Given the description of an element on the screen output the (x, y) to click on. 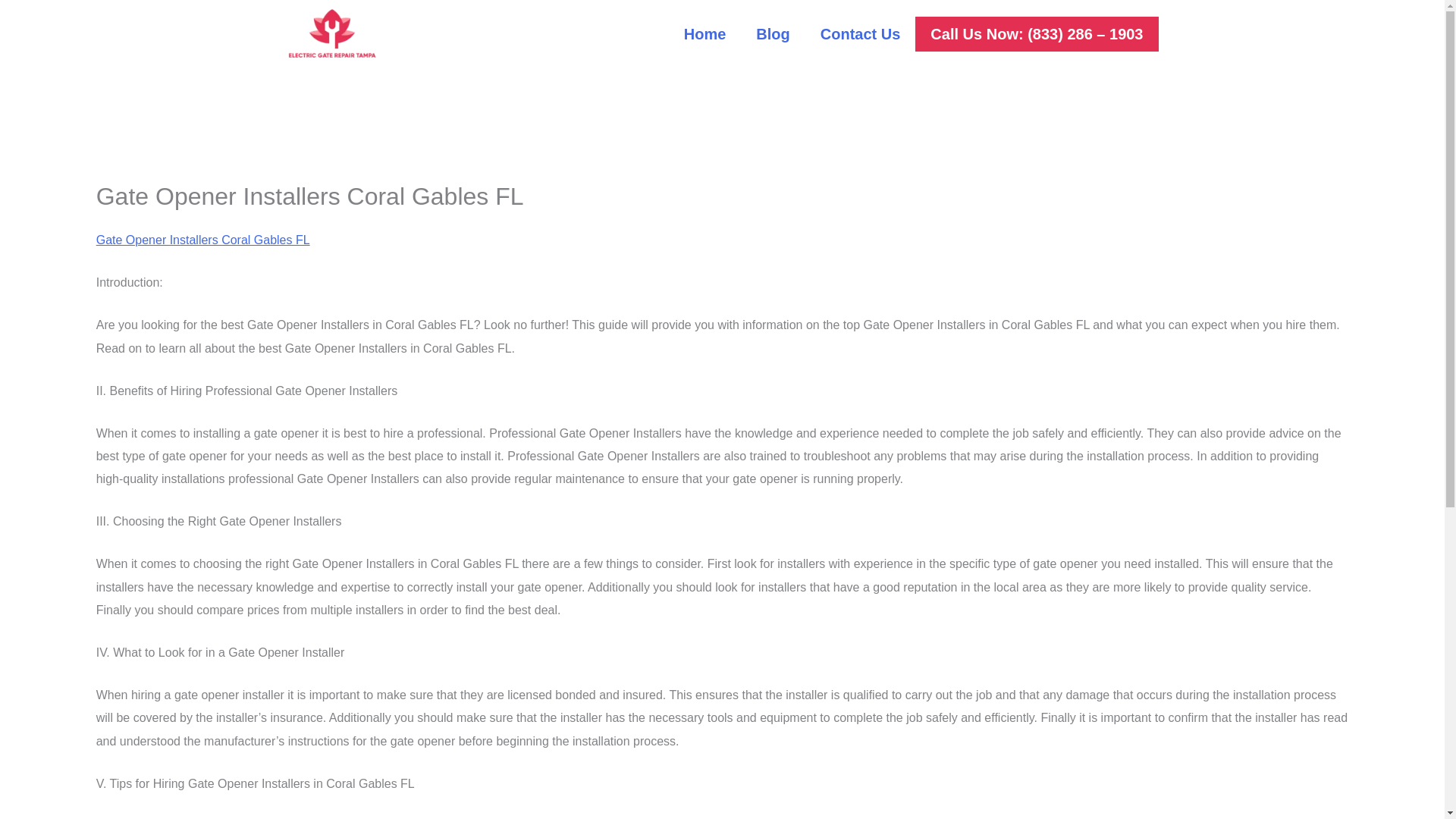
Contact Us (860, 33)
Home (704, 33)
Gate Opener Installers Coral Gables FL (203, 239)
Blog (773, 33)
